Given the description of an element on the screen output the (x, y) to click on. 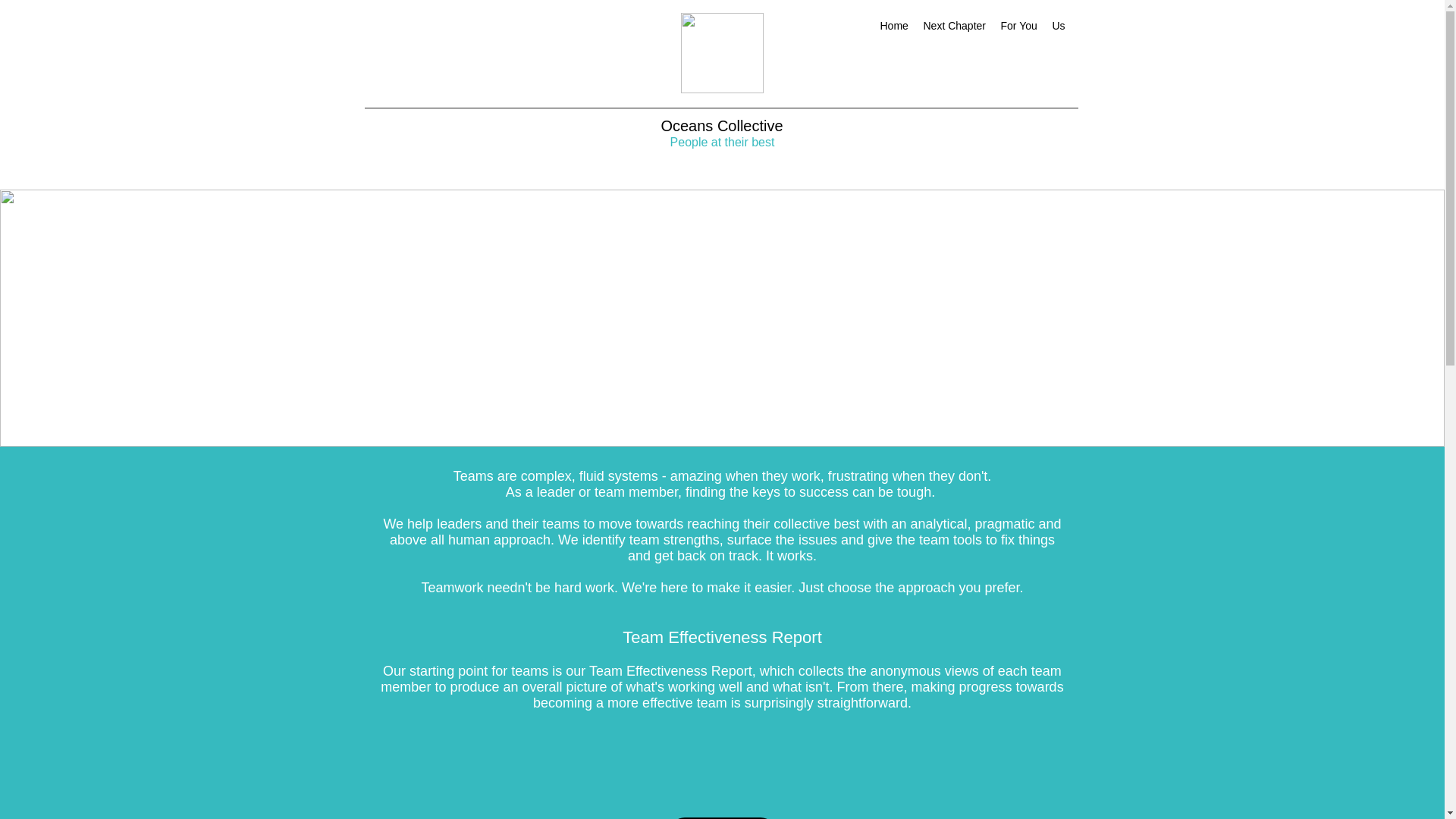
For You (1018, 26)
Next Chapter (953, 26)
Find out more (721, 818)
Home (893, 26)
